Given the description of an element on the screen output the (x, y) to click on. 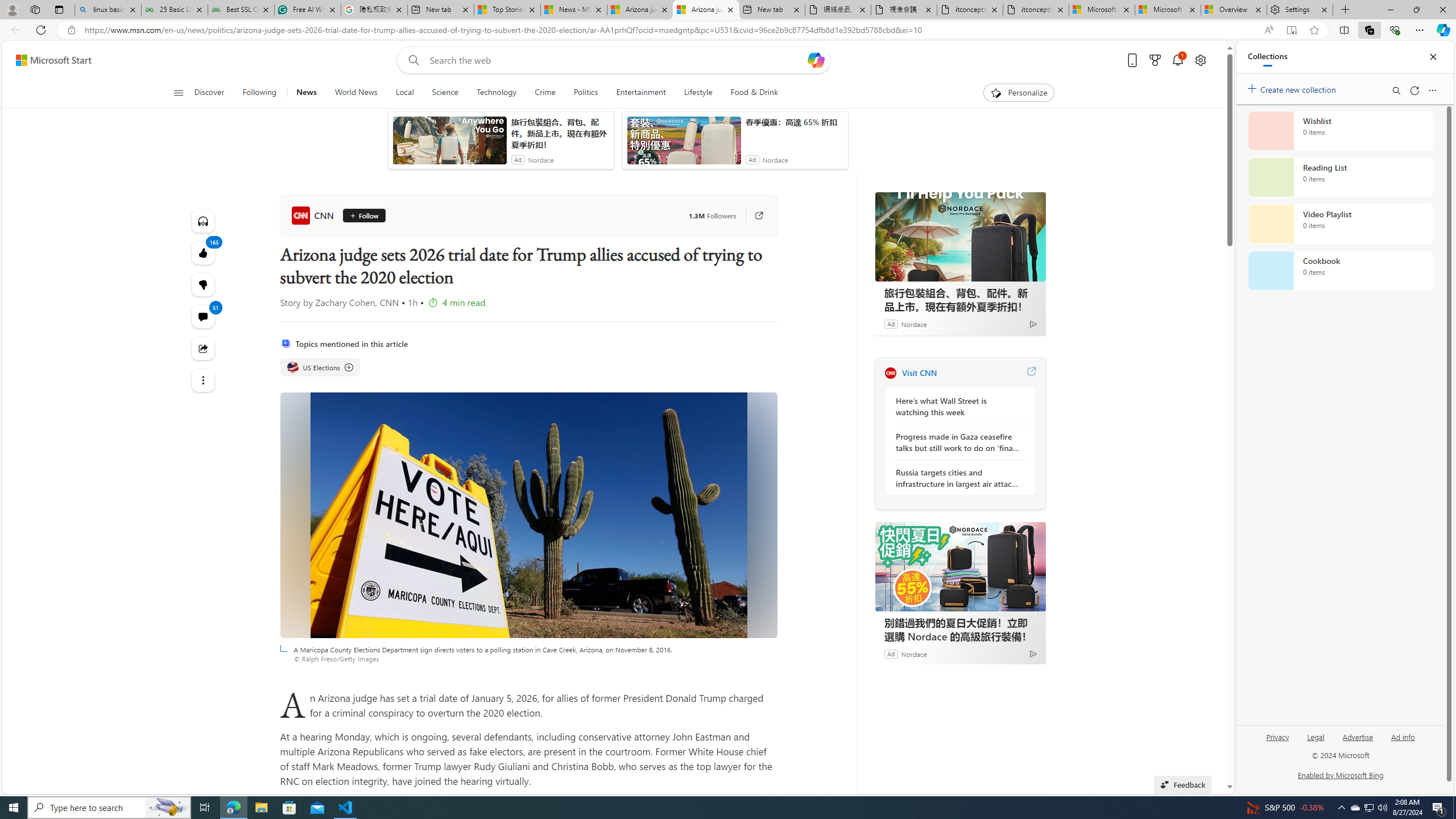
Technology (496, 92)
Science (444, 92)
CNN (314, 215)
Reading List collection, 0 items (1339, 177)
World News (355, 92)
Advertise (1358, 741)
Class: button-glyph (178, 92)
